Given the description of an element on the screen output the (x, y) to click on. 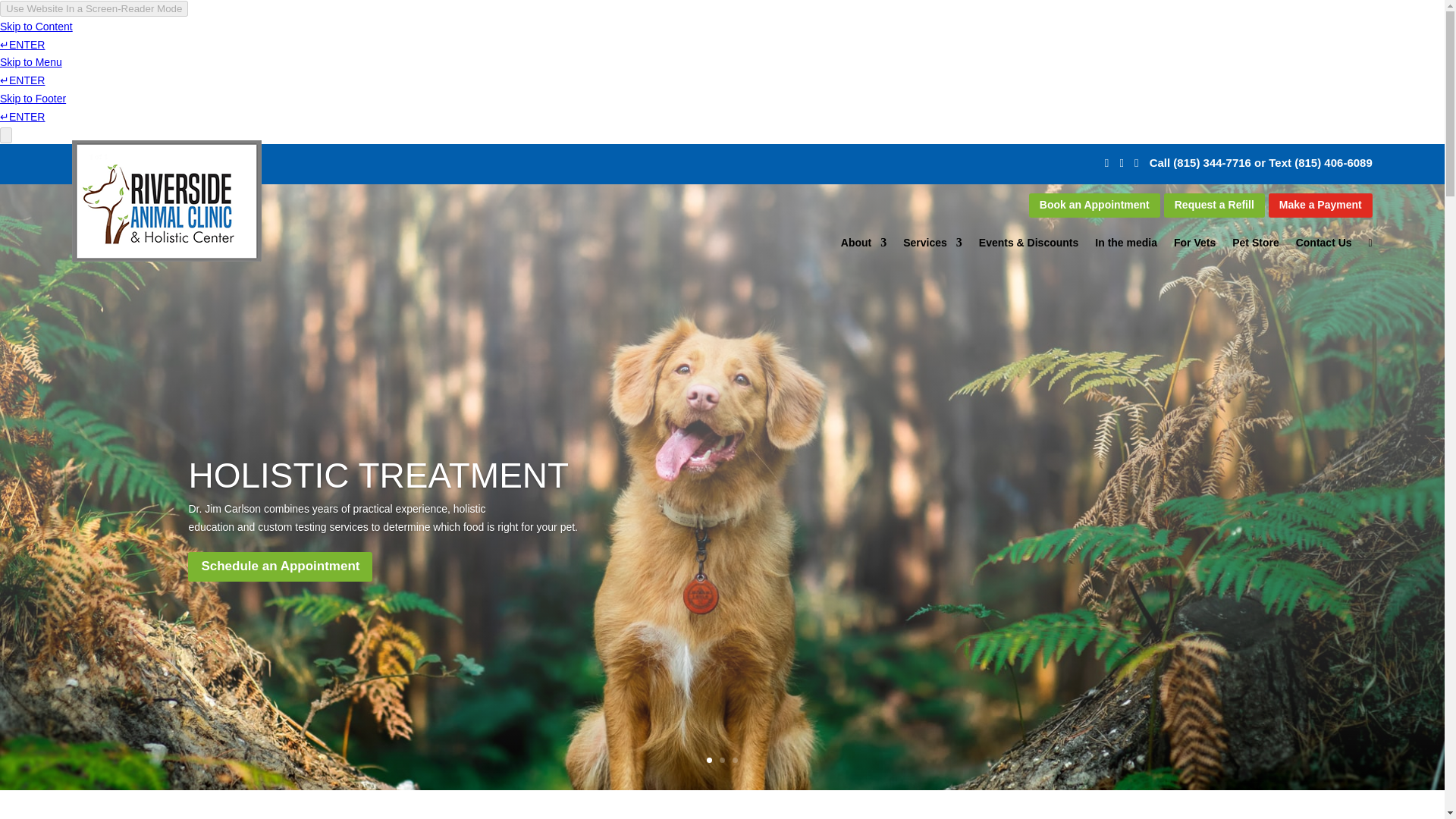
About (863, 245)
Services (932, 245)
image-fixed (166, 200)
Make a Payment (1320, 205)
Pet Store (1254, 245)
Request a Refill (1214, 205)
Book an Appointment (1094, 205)
In the media (1125, 245)
For Vets (1194, 245)
Contact Us (1323, 245)
